Given the description of an element on the screen output the (x, y) to click on. 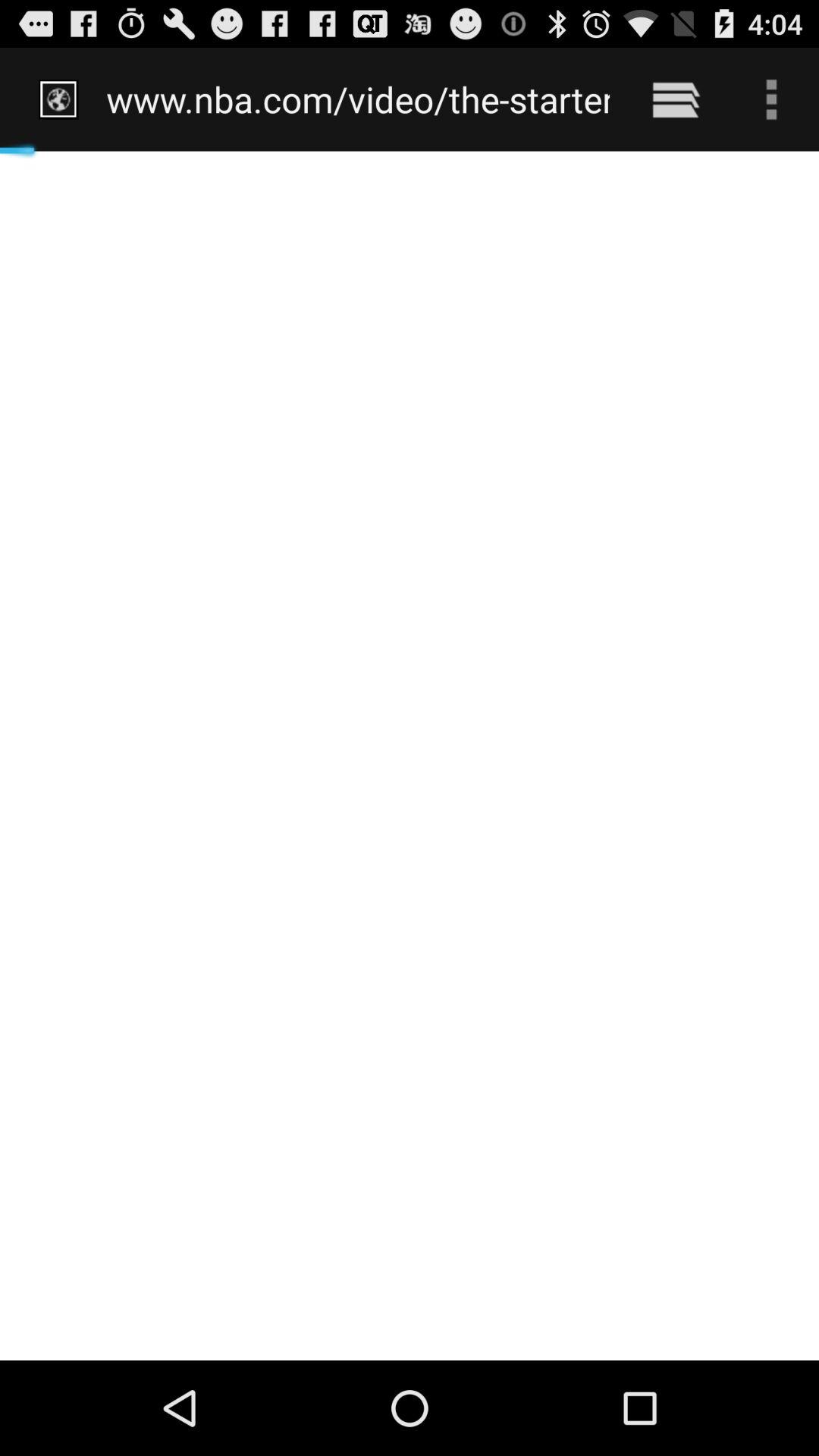
turn on item to the right of www nba com item (675, 99)
